Given the description of an element on the screen output the (x, y) to click on. 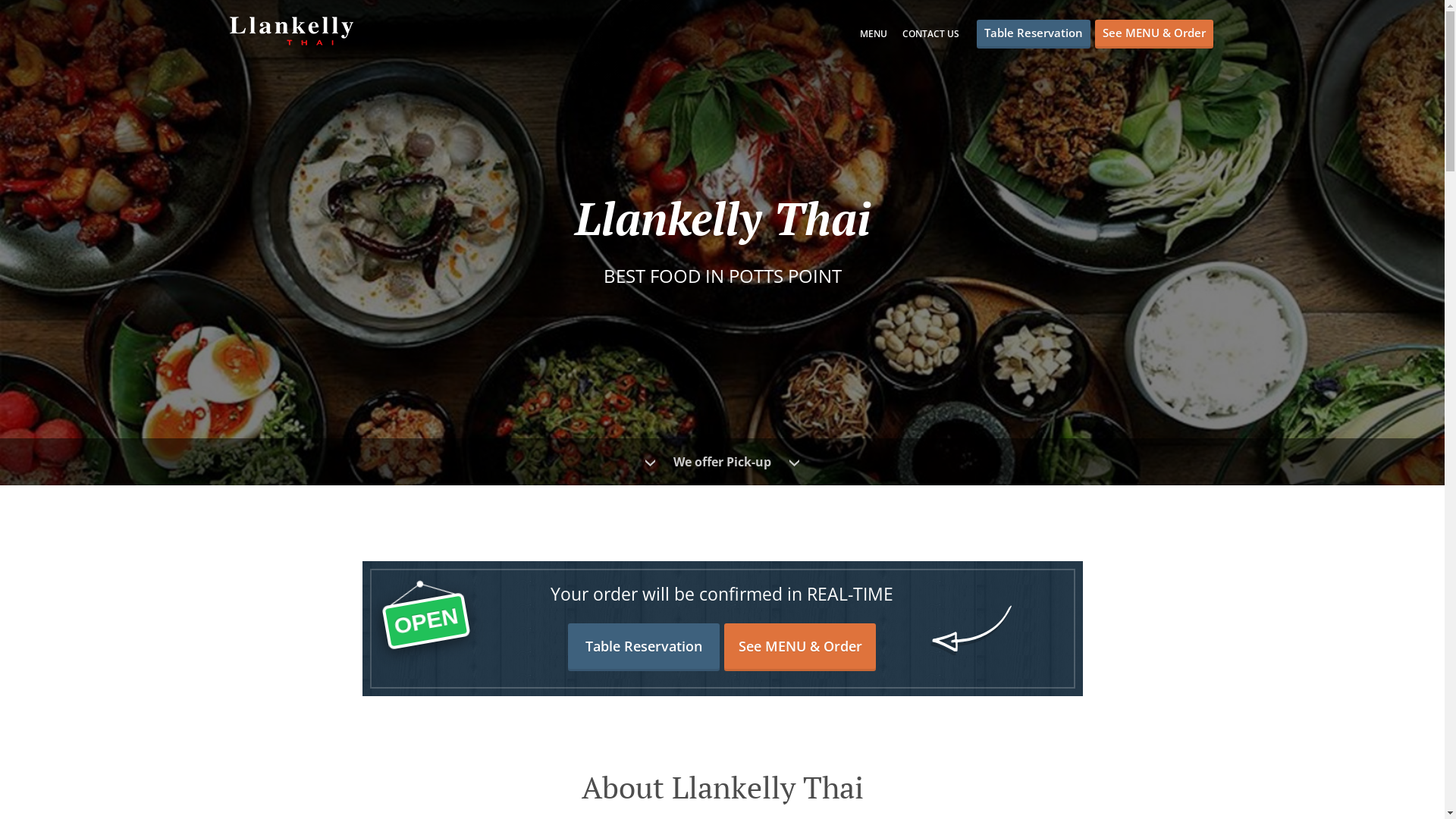
MENU Element type: text (873, 33)
CONTACT US Element type: text (930, 33)
